Given the description of an element on the screen output the (x, y) to click on. 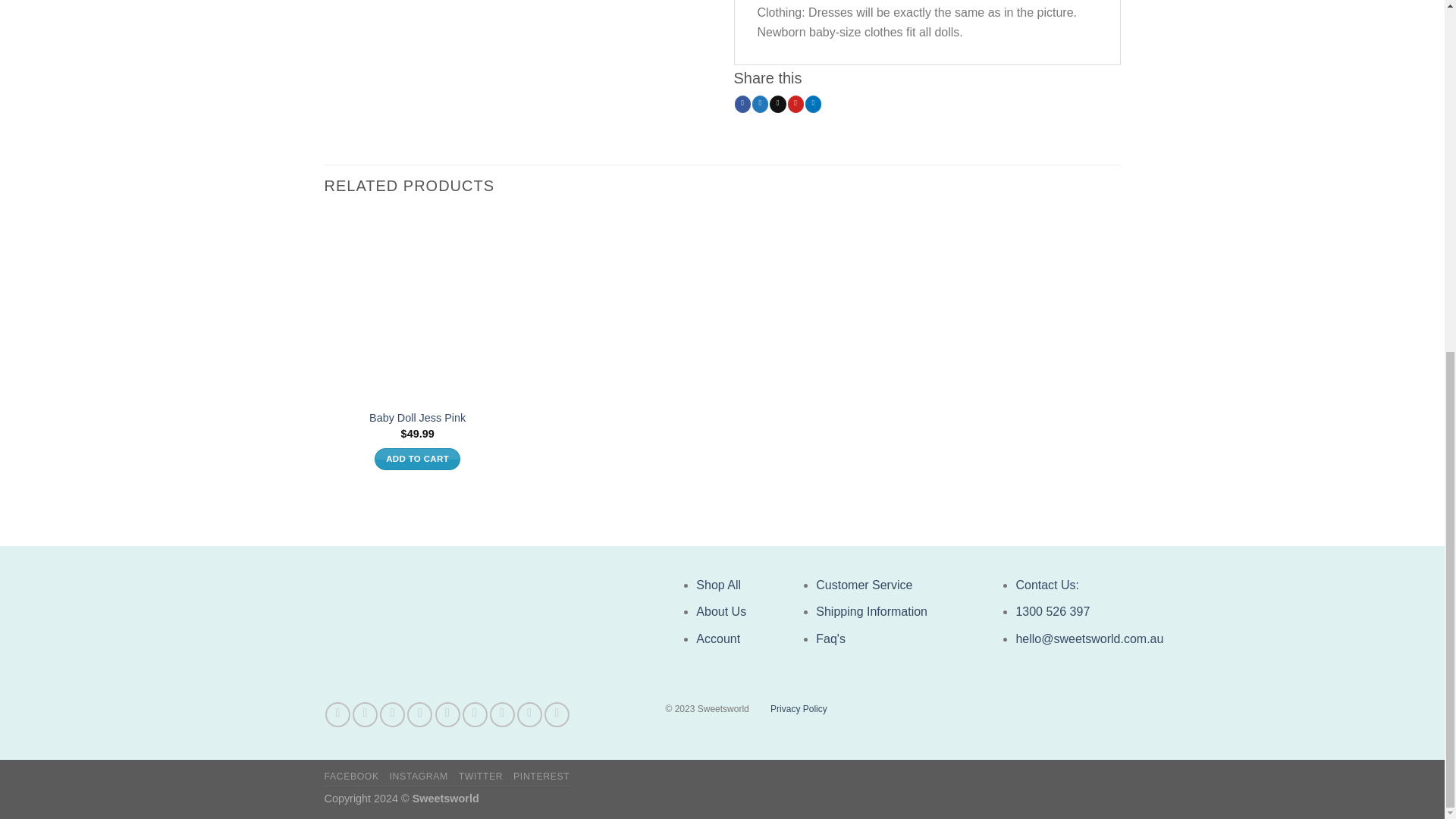
Email to a Friend (778, 103)
Share on Twitter (760, 103)
Share on Facebook (743, 103)
Pin on Pinterest (795, 103)
Share on LinkedIn (813, 103)
